Given the description of an element on the screen output the (x, y) to click on. 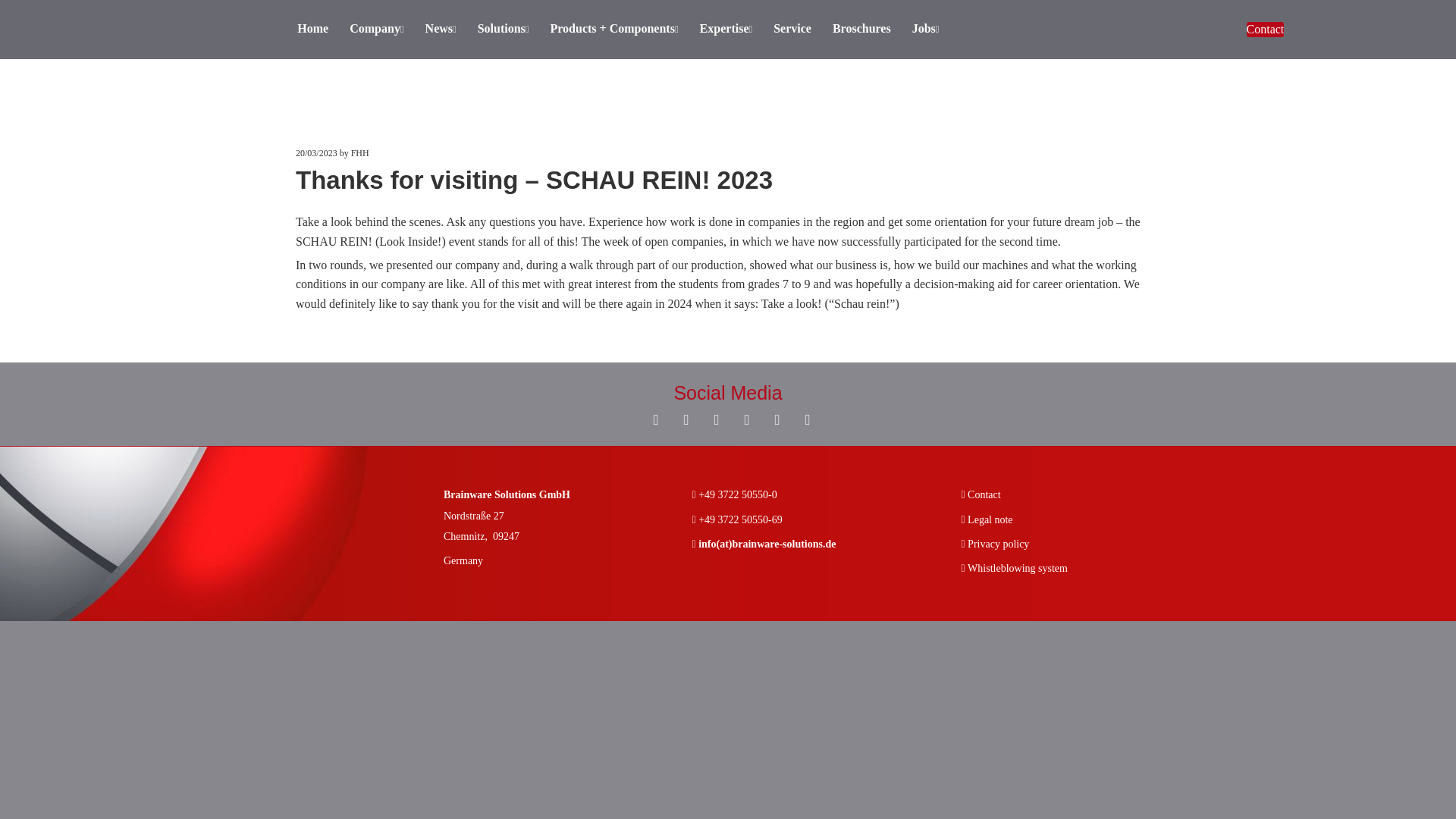
Facebook (655, 418)
News (440, 29)
Xing (777, 418)
Home (312, 29)
Twitter (807, 418)
Youtube (716, 418)
Solutions (503, 29)
Instagram (686, 418)
LinkedIn (746, 418)
Company (375, 29)
